Given the description of an element on the screen output the (x, y) to click on. 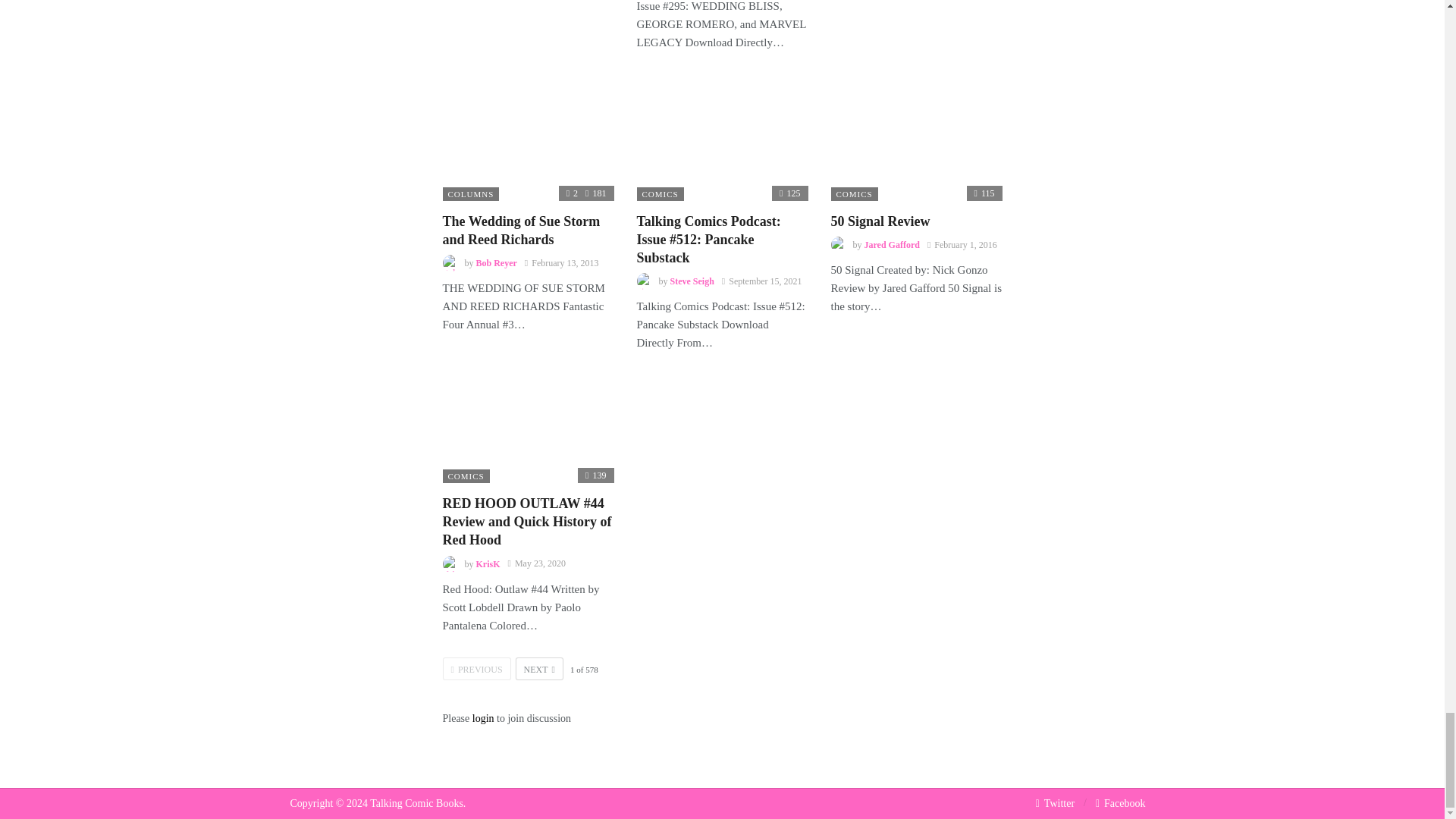
The Wedding of Sue Storm and Reed Richards (528, 138)
